Given the description of an element on the screen output the (x, y) to click on. 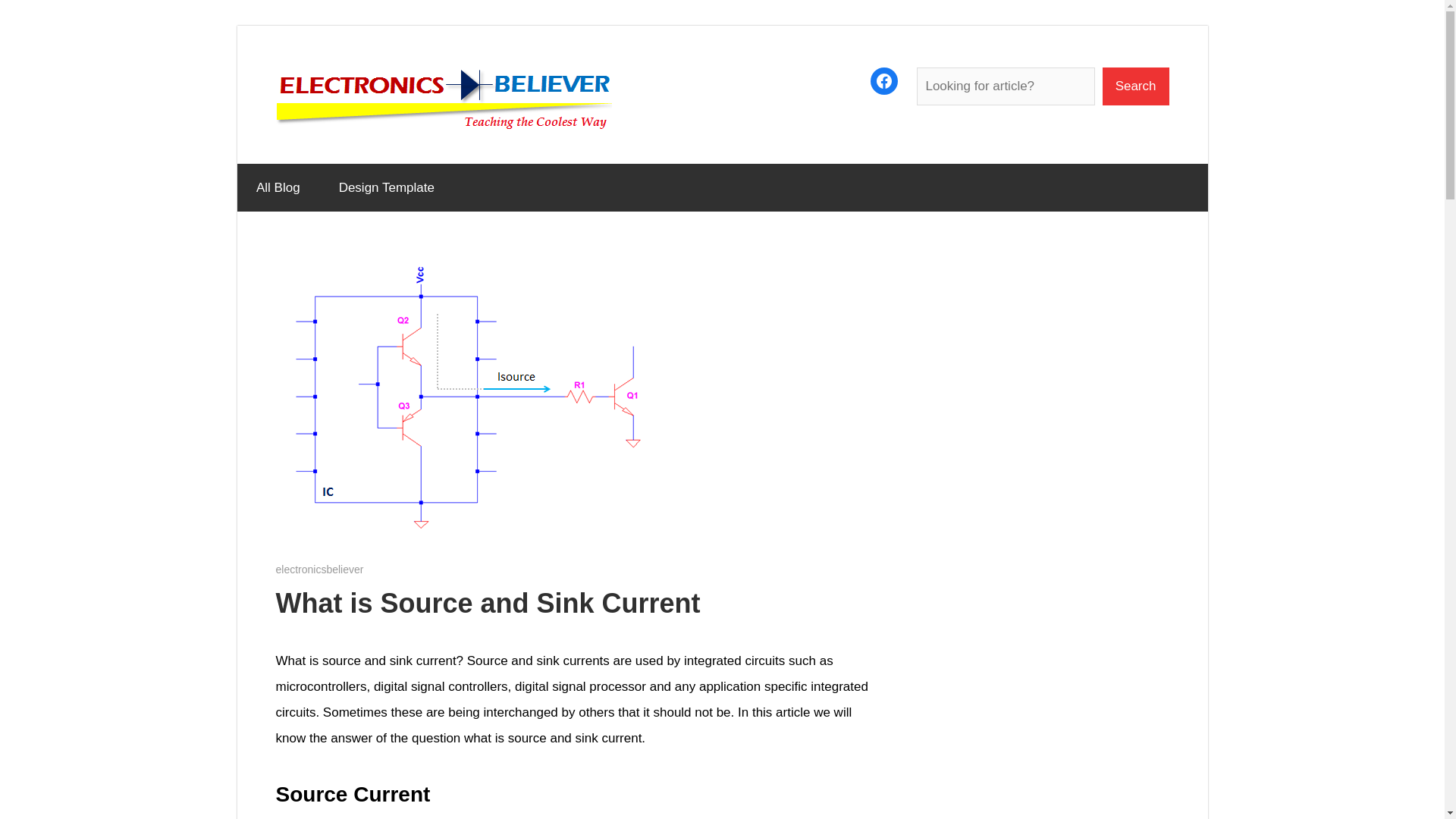
All Blog (276, 187)
View all posts by electronicsbeliever (320, 568)
12:10 AM (319, 568)
Design Template (385, 187)
February 10, 2015 (319, 568)
Search (1135, 86)
electronicsbeliever (320, 568)
